Given the description of an element on the screen output the (x, y) to click on. 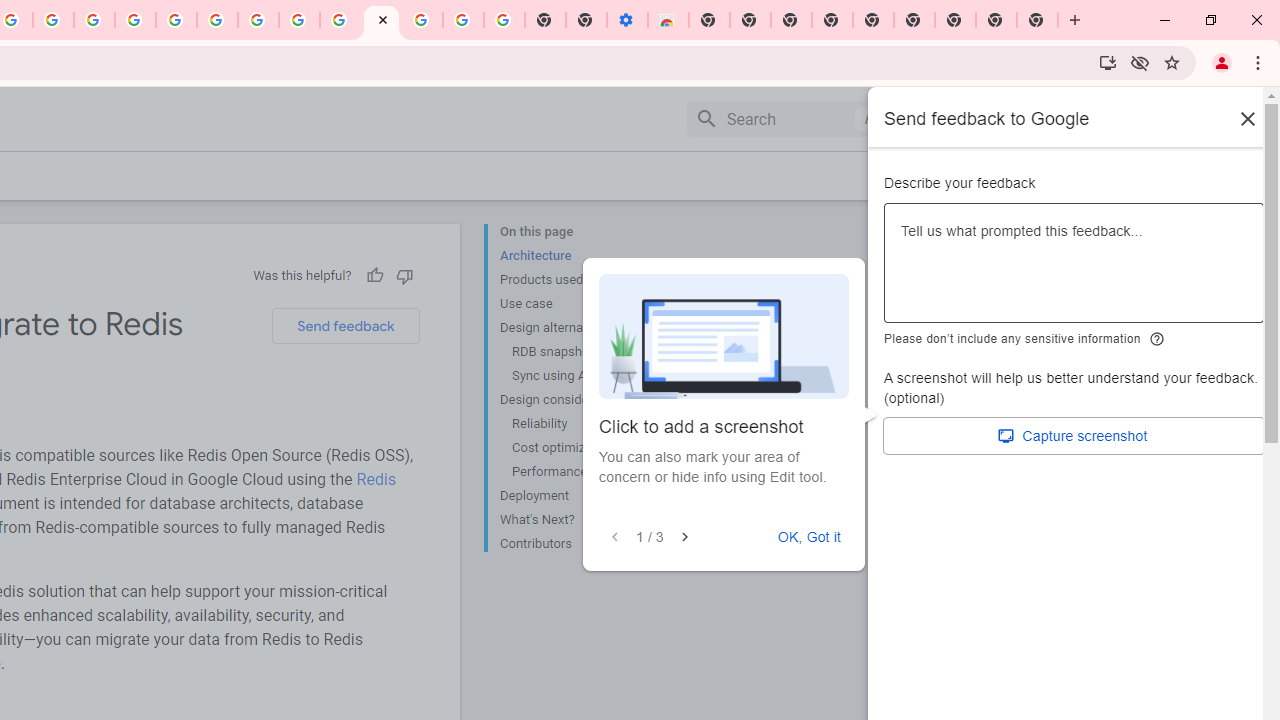
Cost optimization (585, 448)
Use case (580, 304)
Browse the Google Chrome Community - Google Chrome Community (340, 20)
Previous (614, 537)
What's Next? (580, 520)
Third-party cookies blocked (1139, 62)
RDB snapshots (585, 351)
Architecture (580, 255)
Sign in - Google Accounts (176, 20)
Contributors (580, 542)
English (1110, 118)
